Given the description of an element on the screen output the (x, y) to click on. 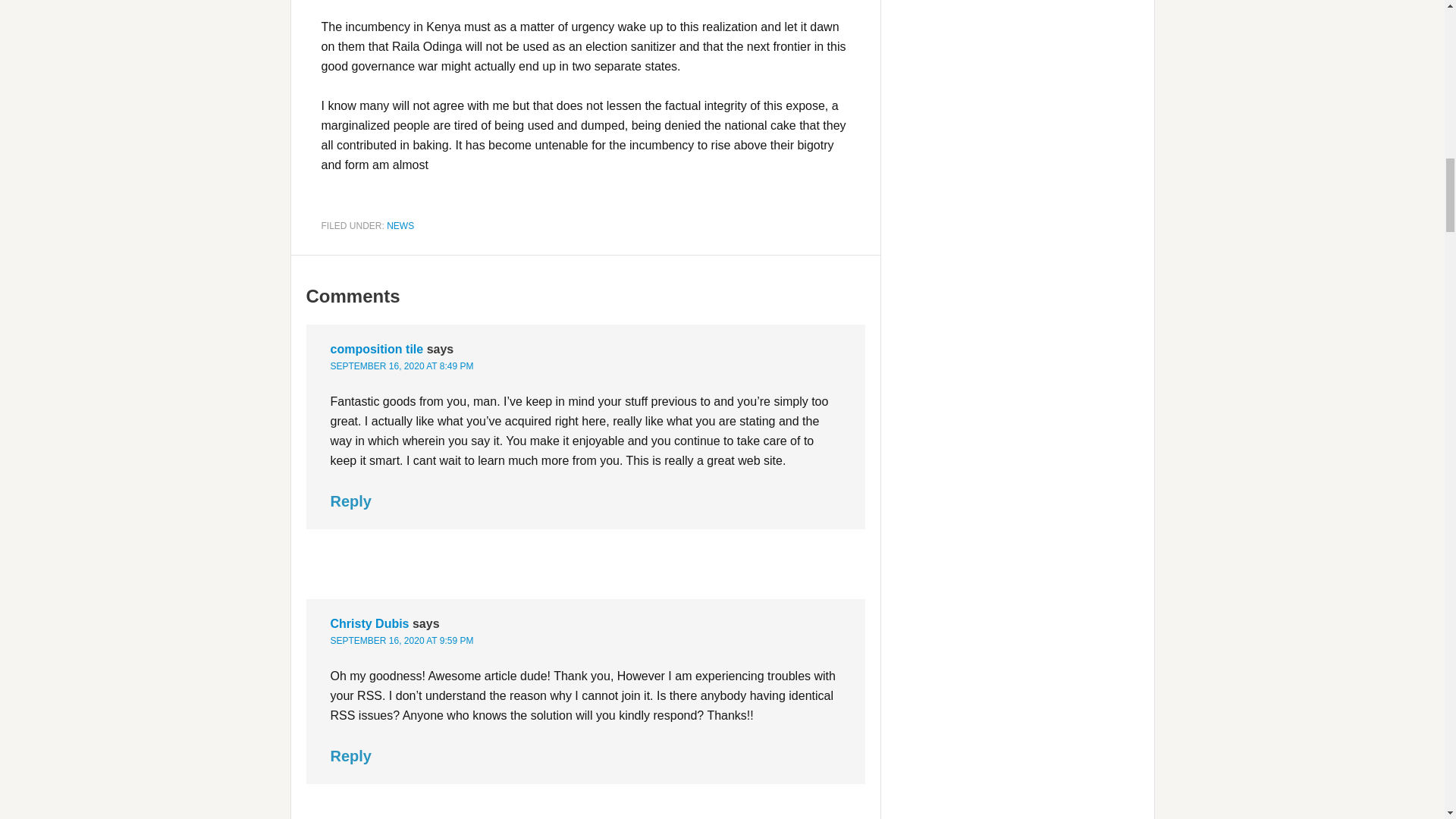
composition tile (376, 349)
SEPTEMBER 16, 2020 AT 8:49 PM (402, 366)
SEPTEMBER 16, 2020 AT 9:59 PM (402, 640)
NEWS (400, 225)
Christy Dubis (369, 623)
Reply (350, 501)
Reply (350, 755)
